Given the description of an element on the screen output the (x, y) to click on. 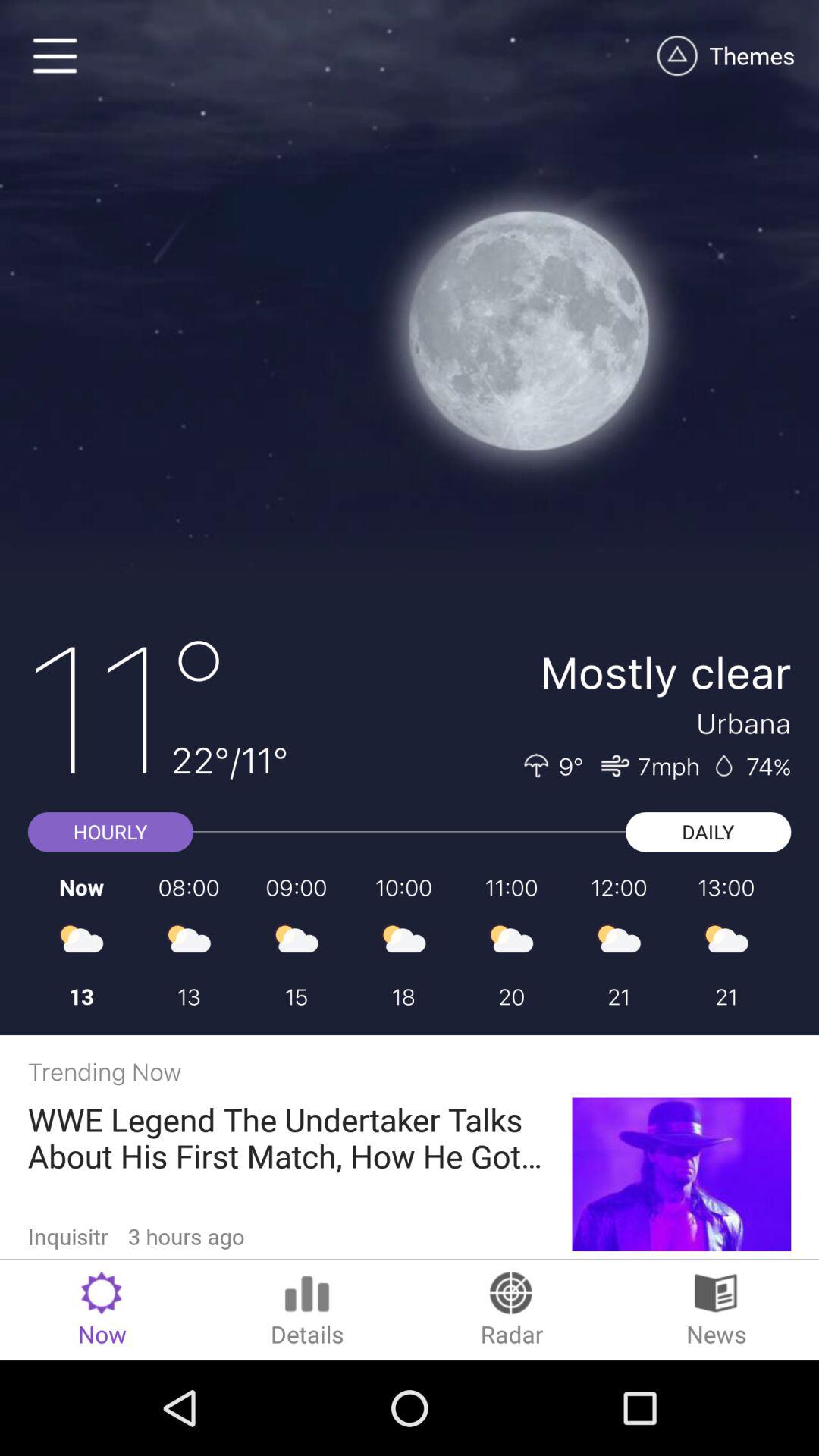
open menu (55, 55)
